Given the description of an element on the screen output the (x, y) to click on. 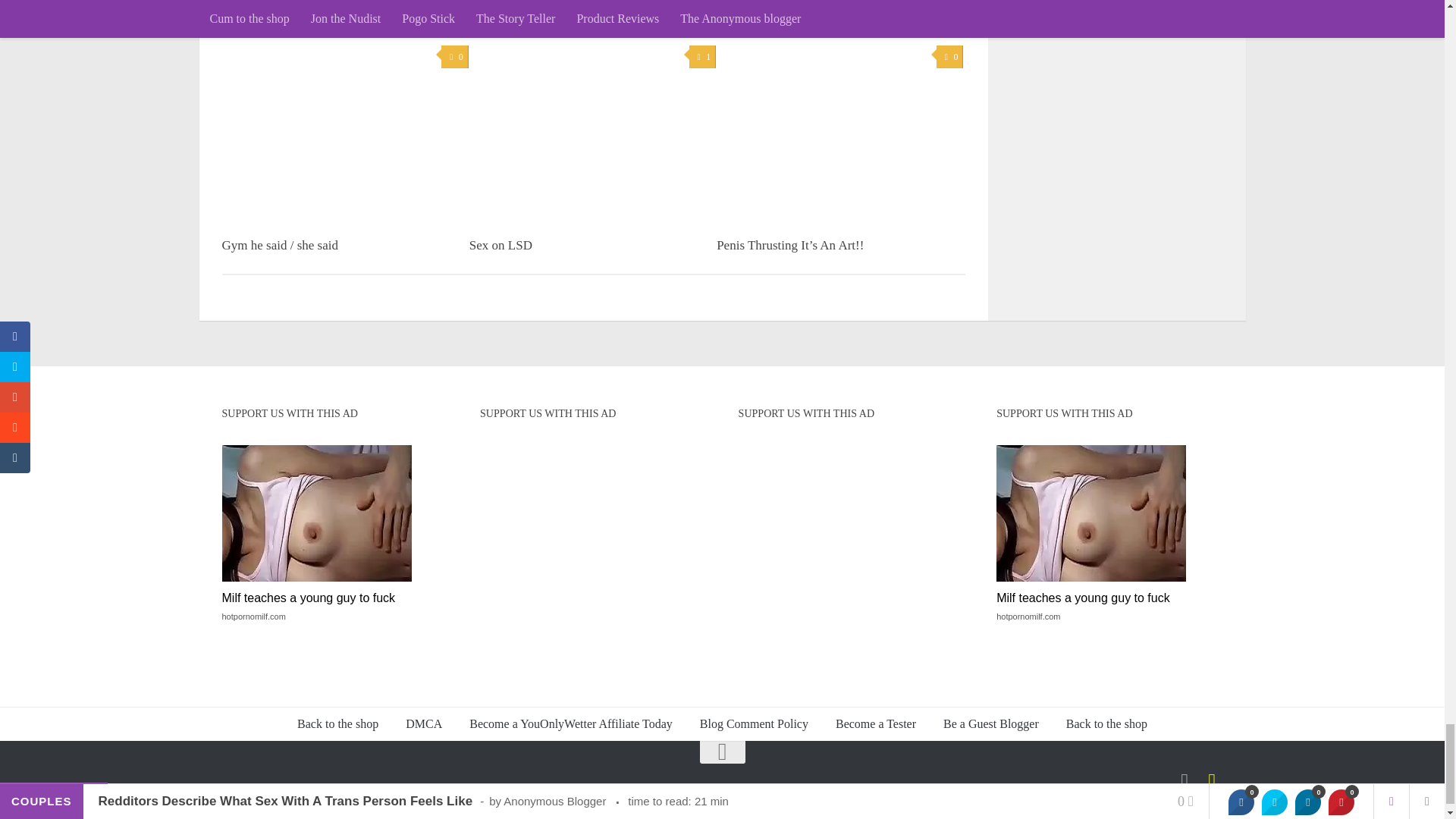
Follow us on Snapchat (1212, 781)
Follow us on Twitter (1184, 781)
